Given the description of an element on the screen output the (x, y) to click on. 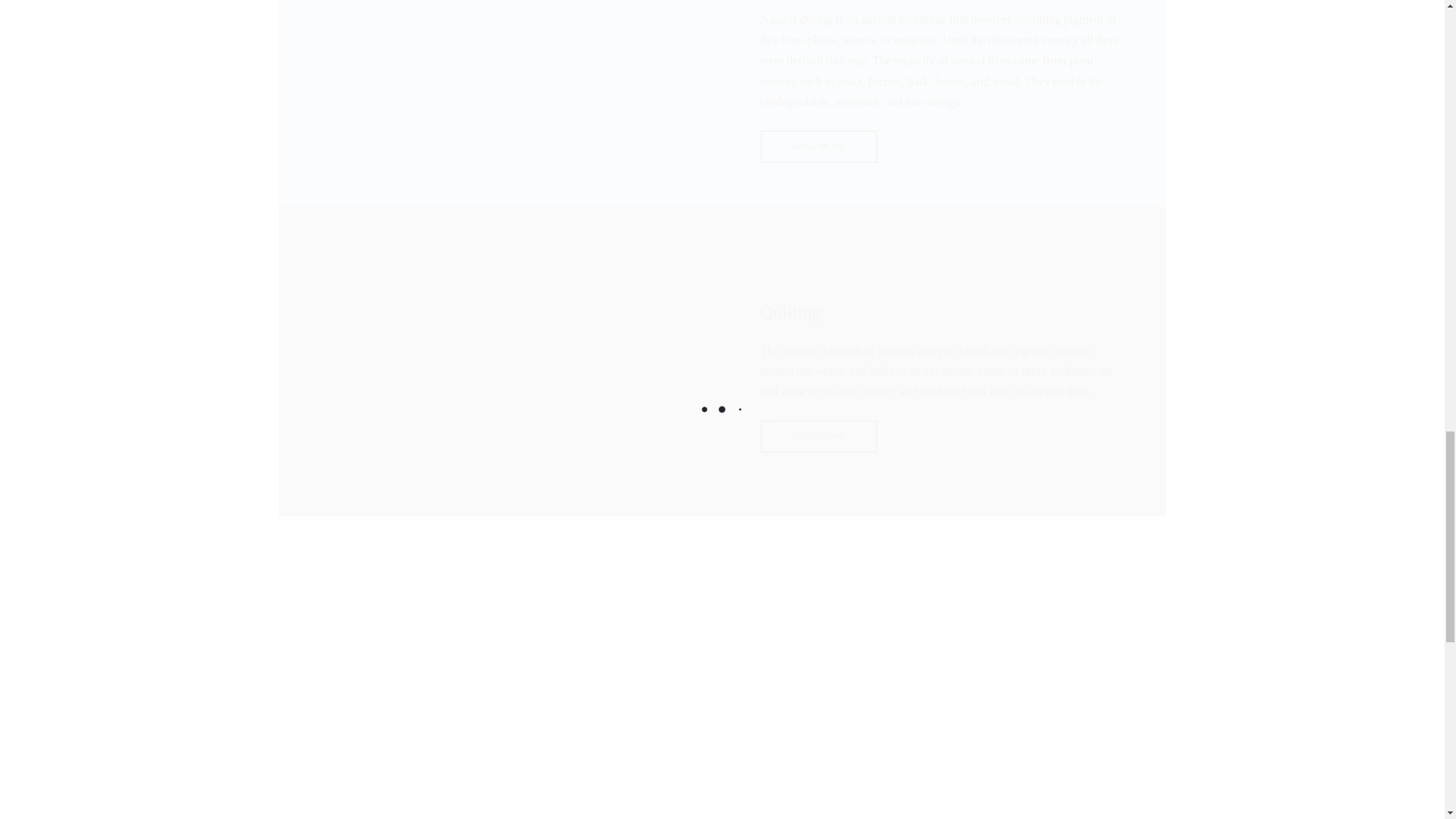
READ MORE (818, 146)
Natural Dyeing (818, 146)
Quilting (818, 436)
READ MORE (818, 436)
